Given the description of an element on the screen output the (x, y) to click on. 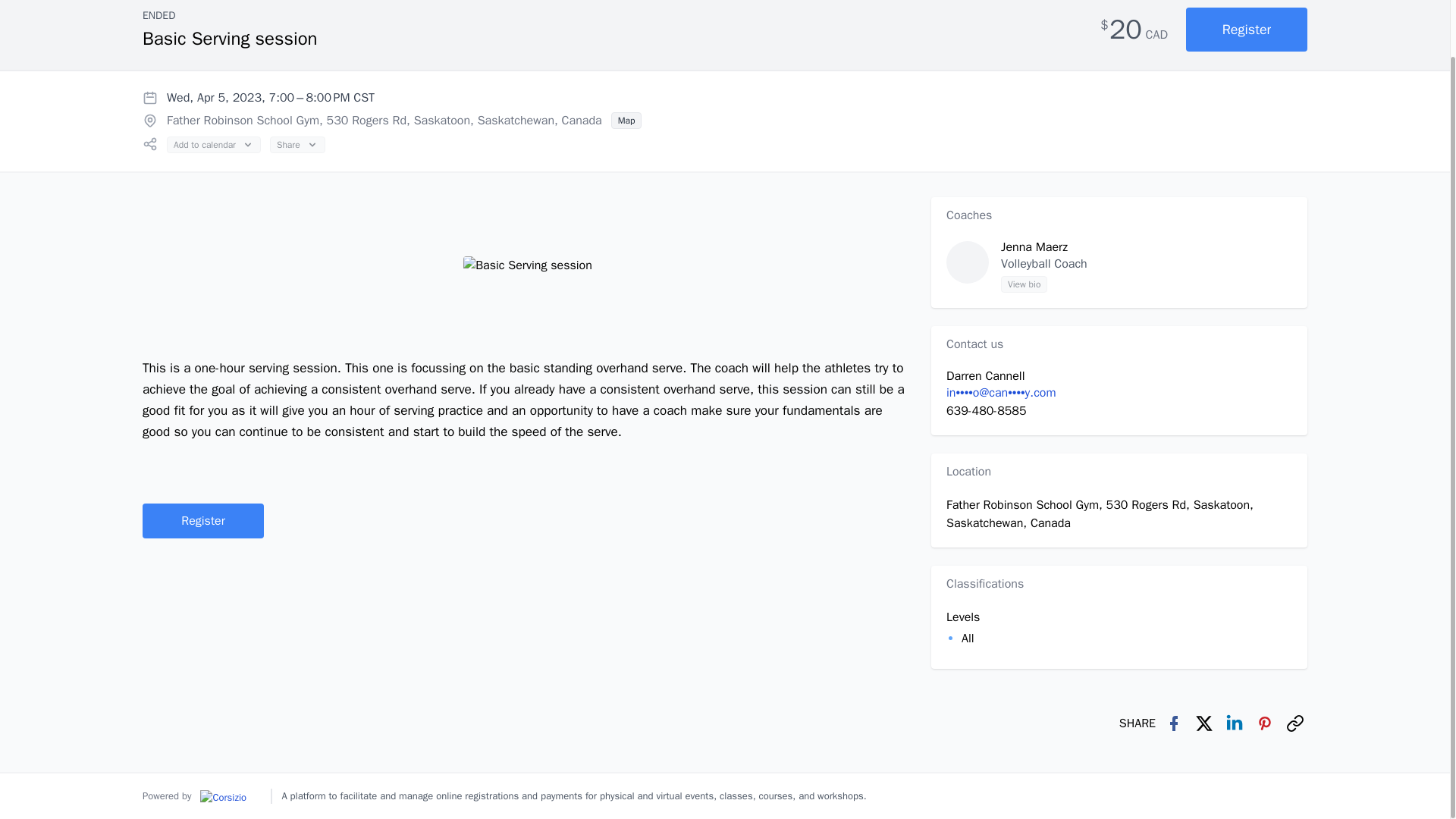
Twitter (1203, 723)
Add to calendar (213, 144)
Register (202, 520)
Pinterest (1264, 723)
Facebook (1173, 723)
View bio (1023, 284)
Direct Link (1294, 723)
Map (626, 120)
Register (1246, 29)
LinkedIn (1234, 723)
Share (296, 144)
